Given the description of an element on the screen output the (x, y) to click on. 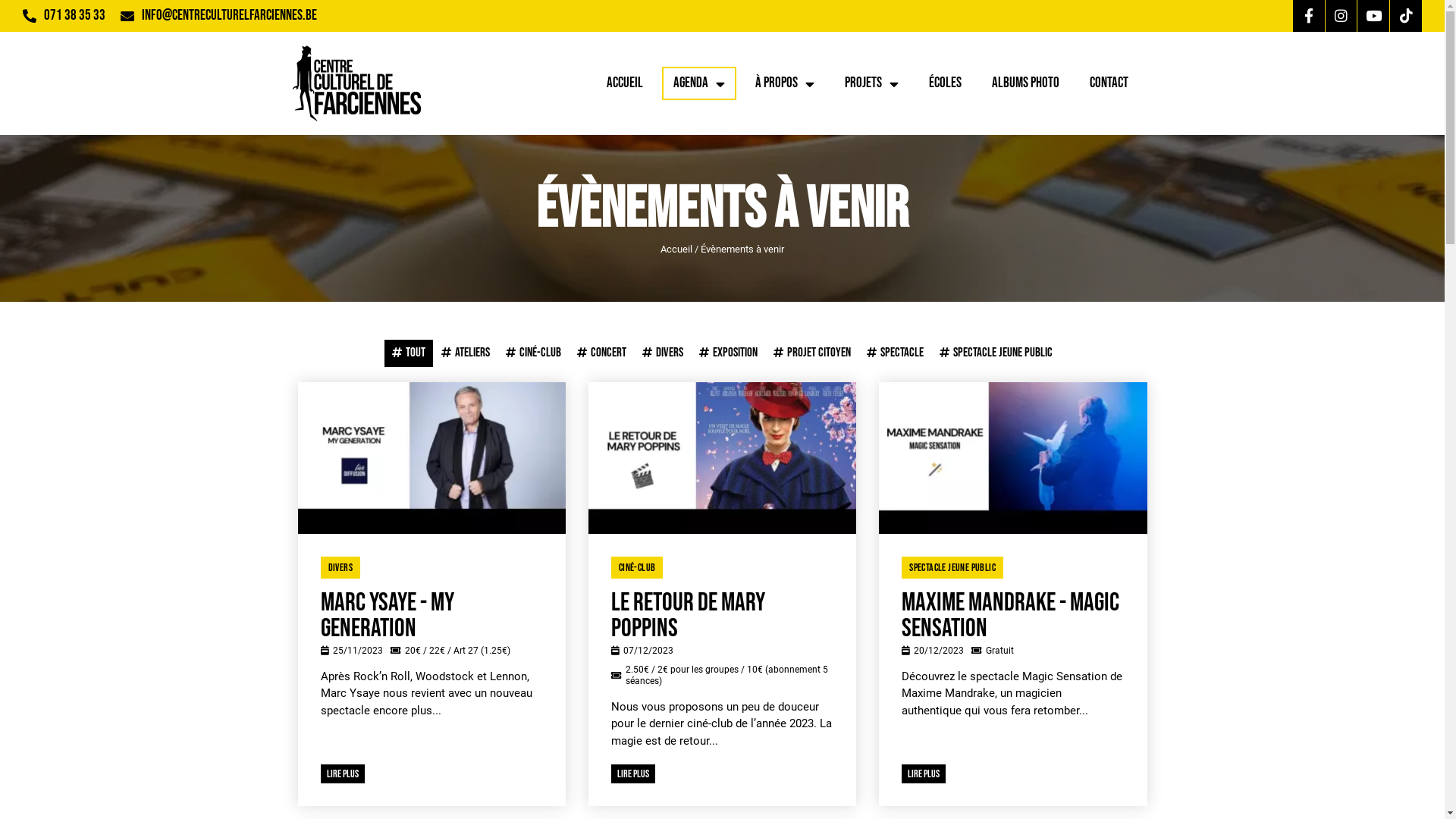
info@centreculturelfarciennes.be Element type: text (228, 15)
071 38 35 33 Element type: text (74, 15)
Marc Ysaye - My generation Element type: text (431, 615)
Lire plus Element type: text (342, 773)
Accueil Element type: text (676, 248)
Le retour de Mary Poppins Element type: text (722, 615)
Divers Element type: text (662, 353)
Spectacle jeune public Element type: text (995, 353)
AGENDA Element type: text (698, 83)
PROJETS Element type: text (870, 83)
Projet citoyen Element type: text (811, 353)
Ateliers Element type: text (465, 353)
Tout Element type: text (408, 353)
ALBUMS PHOTO Element type: text (1024, 83)
Lire plus Element type: text (923, 773)
Spectacle Element type: text (895, 353)
Divers Element type: text (339, 567)
Exposition Element type: text (728, 353)
Spectacle jeune public Element type: text (952, 567)
Lire plus Element type: text (633, 773)
ACCUEIL Element type: text (623, 83)
Concert Element type: text (601, 353)
CONTACT Element type: text (1108, 83)
Maxime Mandrake - Magic sensation Element type: text (1012, 615)
